Given the description of an element on the screen output the (x, y) to click on. 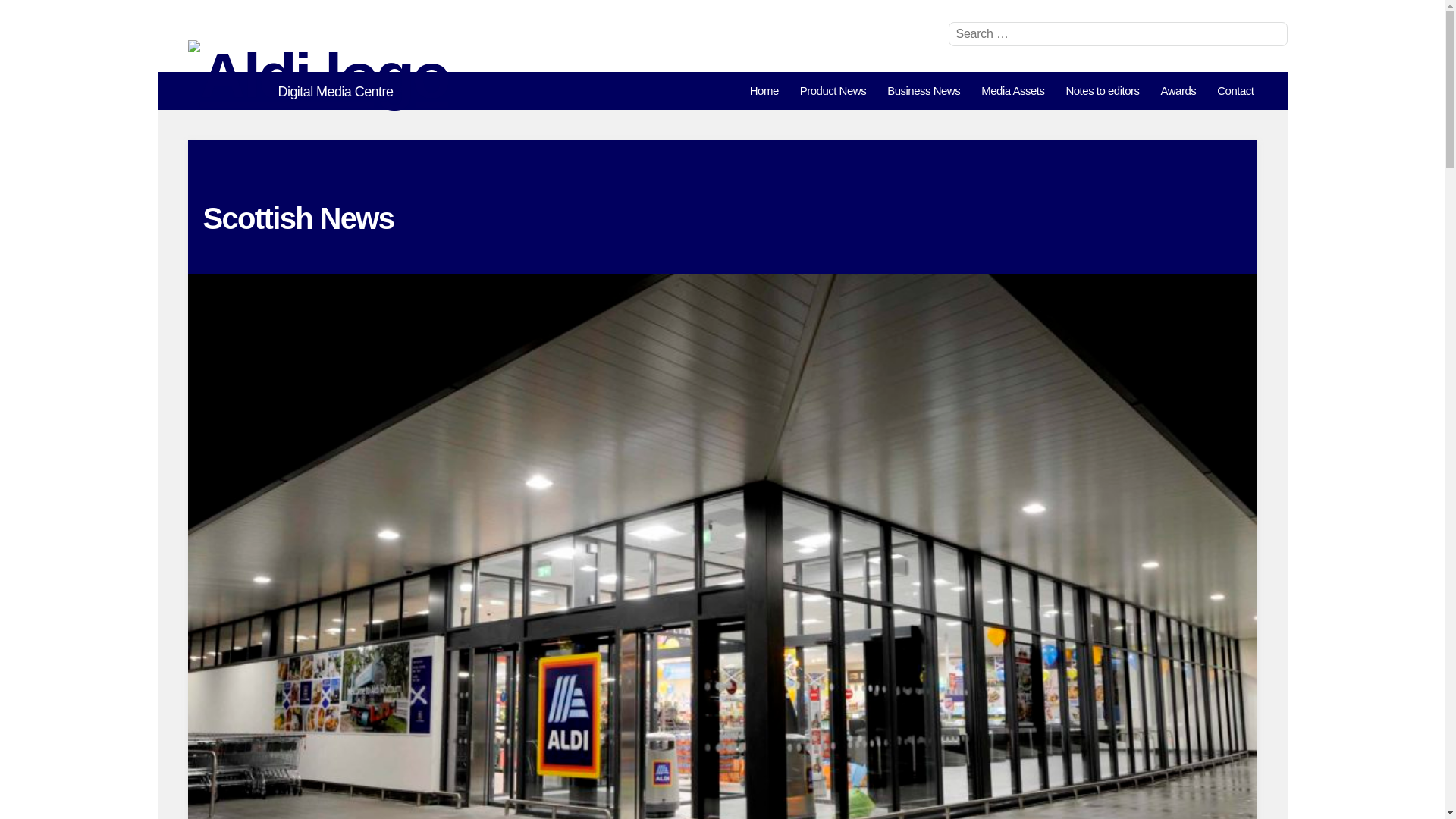
Media Assets (1012, 90)
Product News (832, 90)
Business News (923, 90)
Home (764, 90)
